Given the description of an element on the screen output the (x, y) to click on. 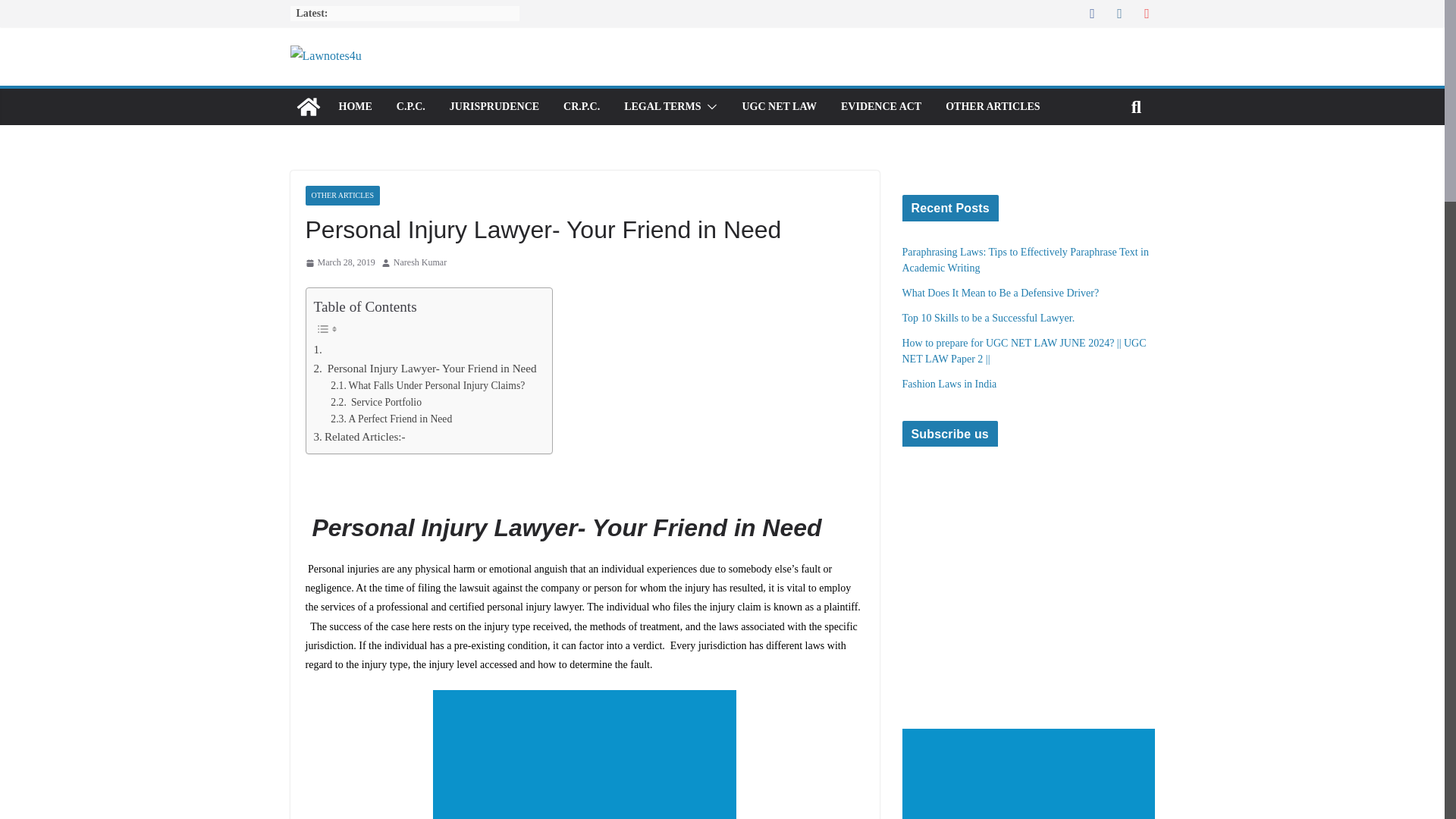
March 28, 2019 (339, 262)
EVIDENCE ACT (881, 106)
LEGAL TERMS (662, 106)
JURISPRUDENCE (493, 106)
CR.P.C. (581, 106)
Naresh Kumar (419, 262)
HOME (354, 106)
3:44 pm (339, 262)
A Perfect Friend in Need   (393, 419)
What Falls Under Personal Injury Claims? (427, 385)
